Given the description of an element on the screen output the (x, y) to click on. 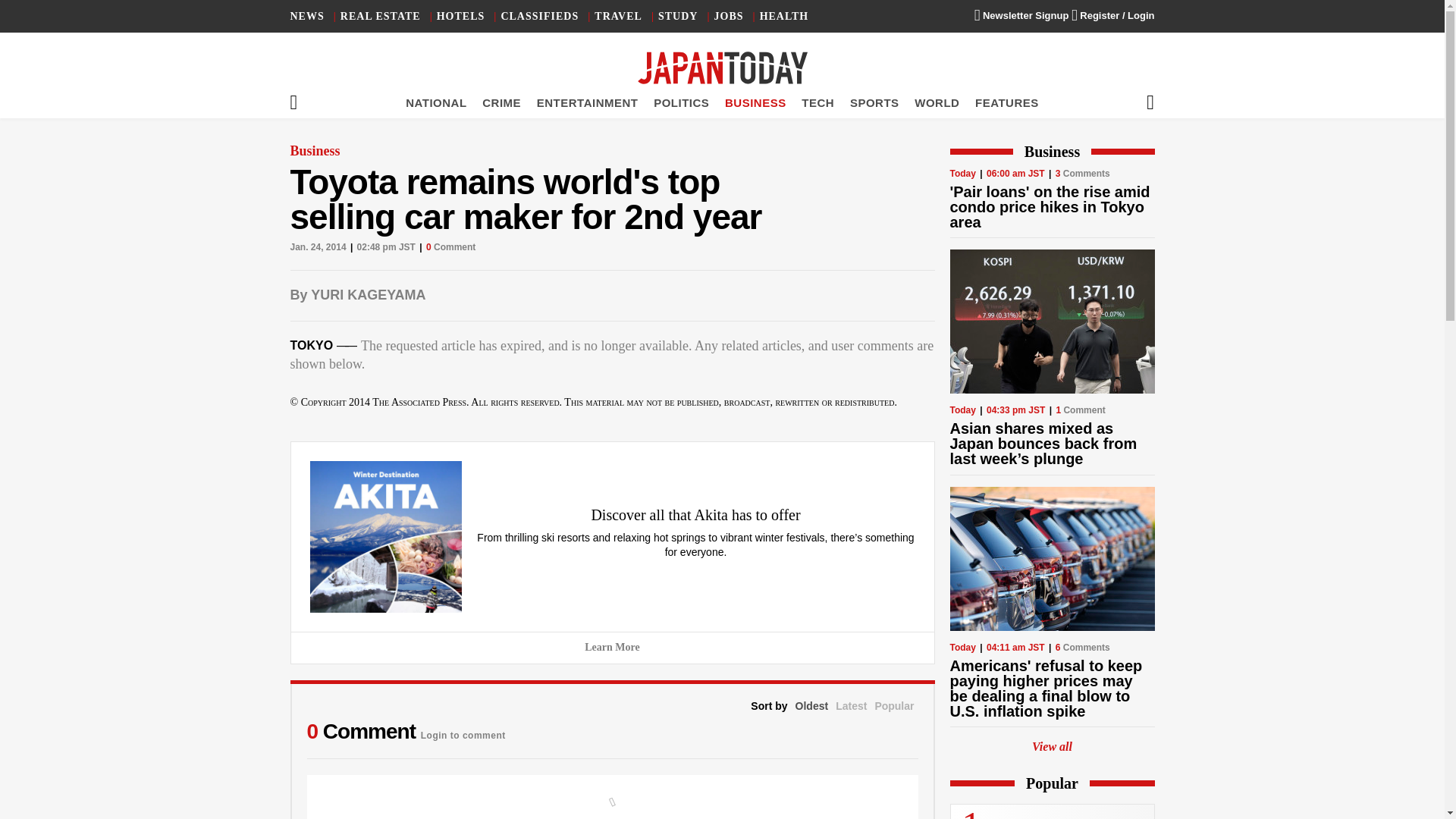
POLITICS (681, 102)
WORLD (936, 102)
SPORTS (874, 102)
NATIONAL (435, 102)
Login to comment (462, 730)
CRIME (501, 102)
HOTELS (460, 16)
STUDY (677, 16)
JOBS (729, 16)
